Given the description of an element on the screen output the (x, y) to click on. 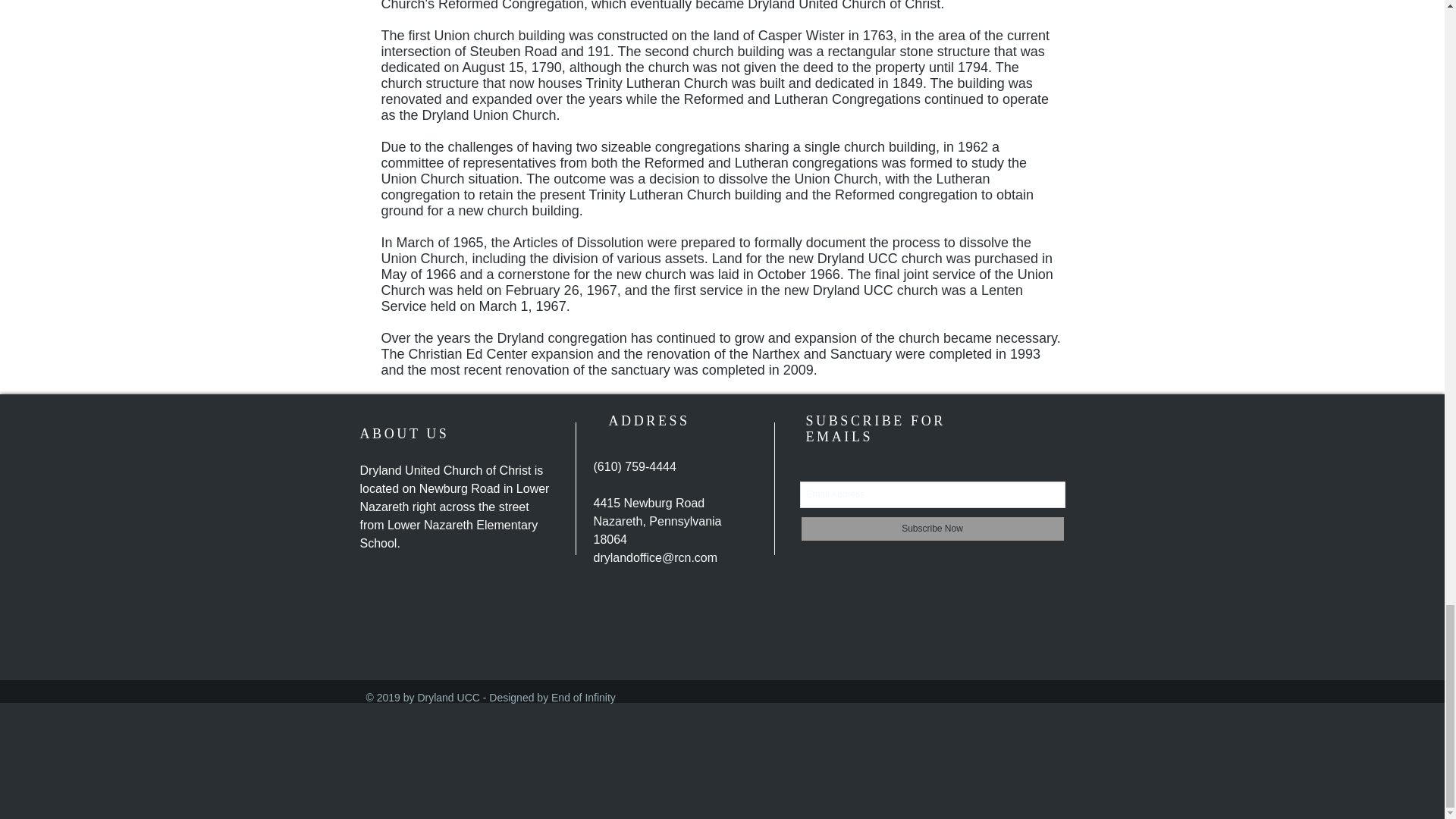
Subscribe Now (931, 528)
